Given the description of an element on the screen output the (x, y) to click on. 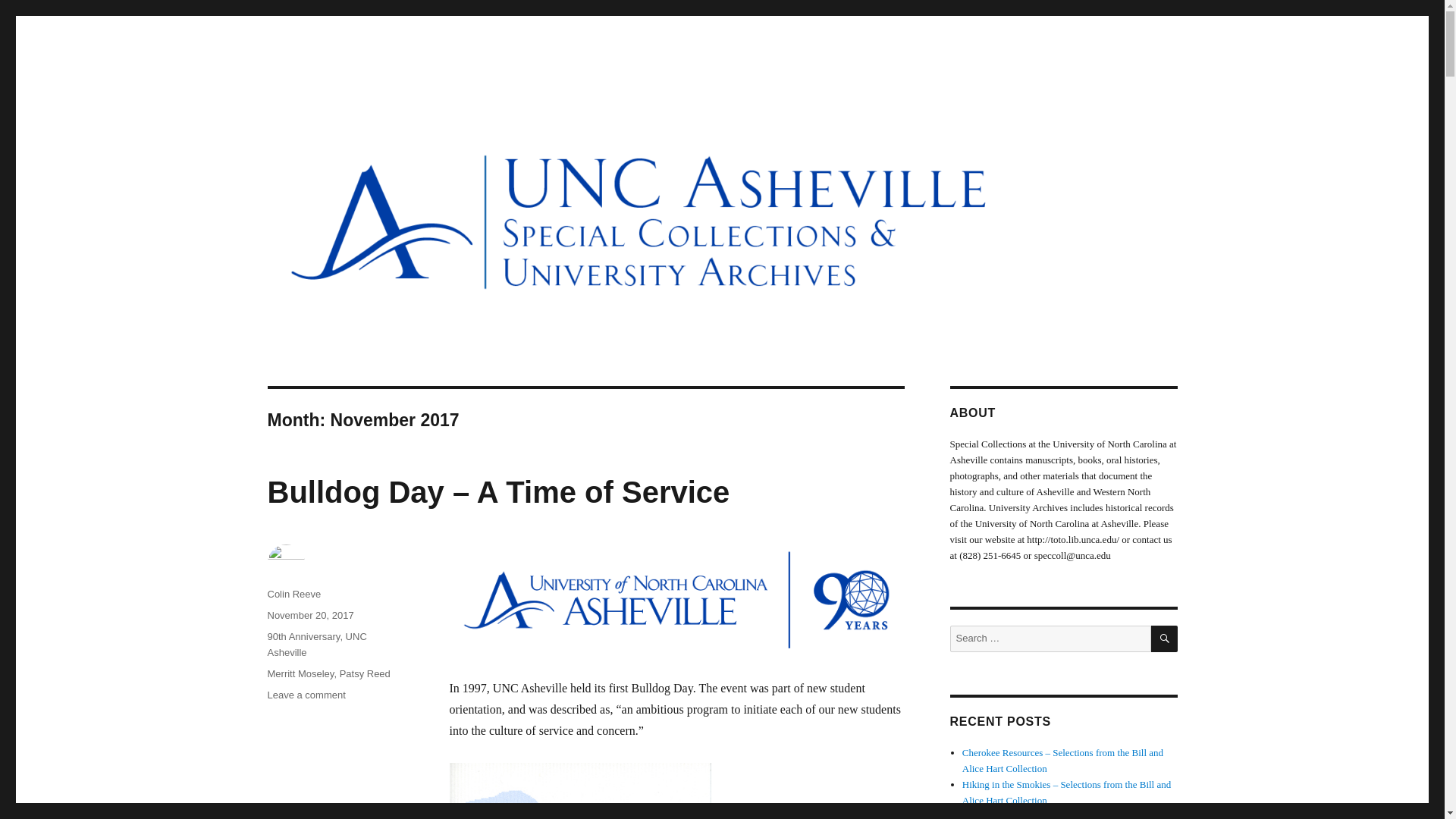
November 20, 2017 (309, 614)
SEARCH (1164, 638)
UNC Asheville (316, 644)
UNC Asheville Archives (385, 114)
90th Anniversary (302, 636)
Colin Reeve (293, 593)
Merritt Moseley (299, 673)
Patsy Reed (364, 673)
